Given the description of an element on the screen output the (x, y) to click on. 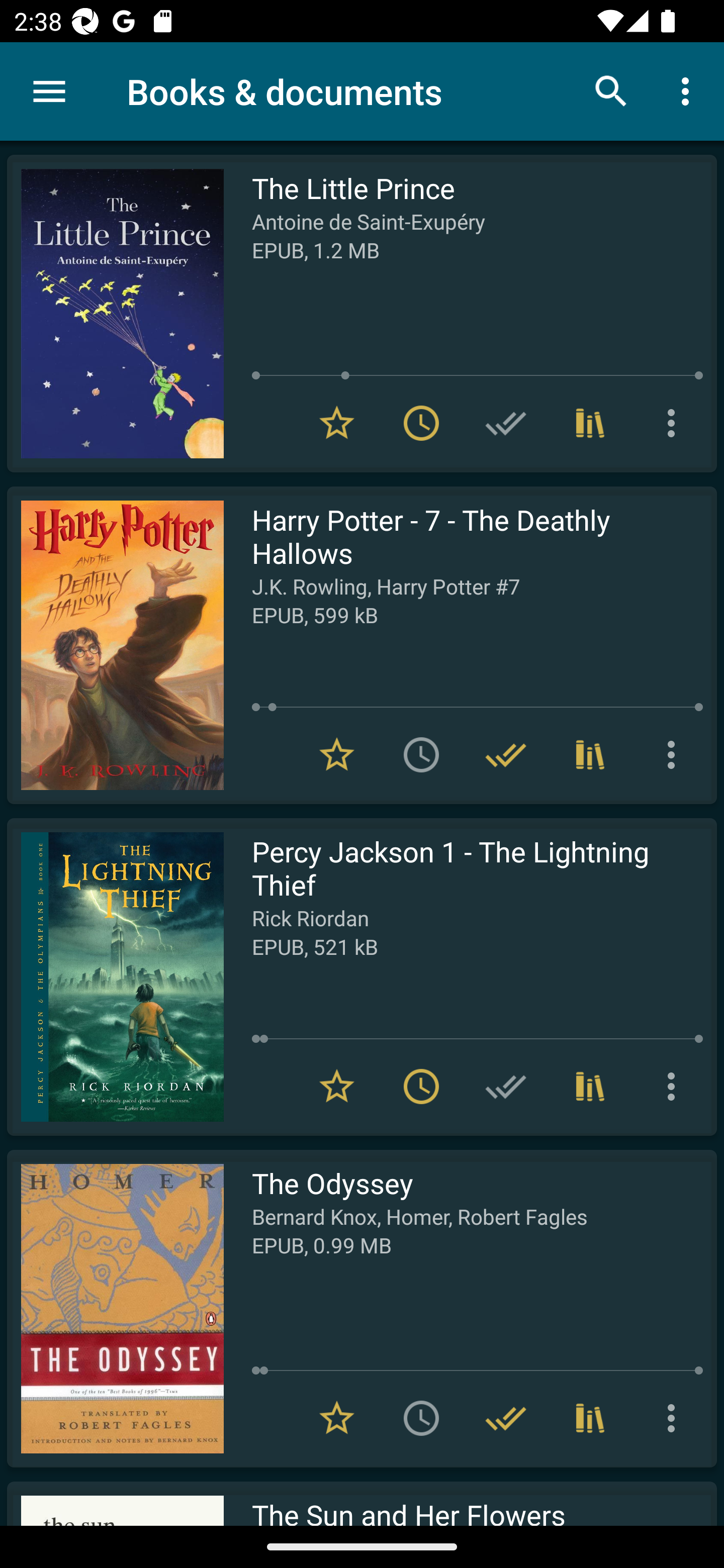
Menu (49, 91)
Search books & documents (611, 90)
More options (688, 90)
Read The Little Prince (115, 313)
Remove from Favorites (336, 423)
Remove from To read (421, 423)
Add to Have read (505, 423)
Collections (1) (590, 423)
More options (674, 423)
Read Harry Potter - 7 - The Deathly Hallows (115, 645)
Remove from Favorites (336, 753)
Add to To read (421, 753)
Remove from Have read (505, 753)
Collections (3) (590, 753)
More options (674, 753)
Read Percy Jackson 1 - The Lightning Thief (115, 976)
Remove from Favorites (336, 1086)
Remove from To read (421, 1086)
Add to Have read (505, 1086)
Collections (1) (590, 1086)
More options (674, 1086)
Read The Odyssey (115, 1308)
Remove from Favorites (336, 1417)
Add to To read (421, 1417)
Remove from Have read (505, 1417)
Collections (3) (590, 1417)
More options (674, 1417)
